Given the description of an element on the screen output the (x, y) to click on. 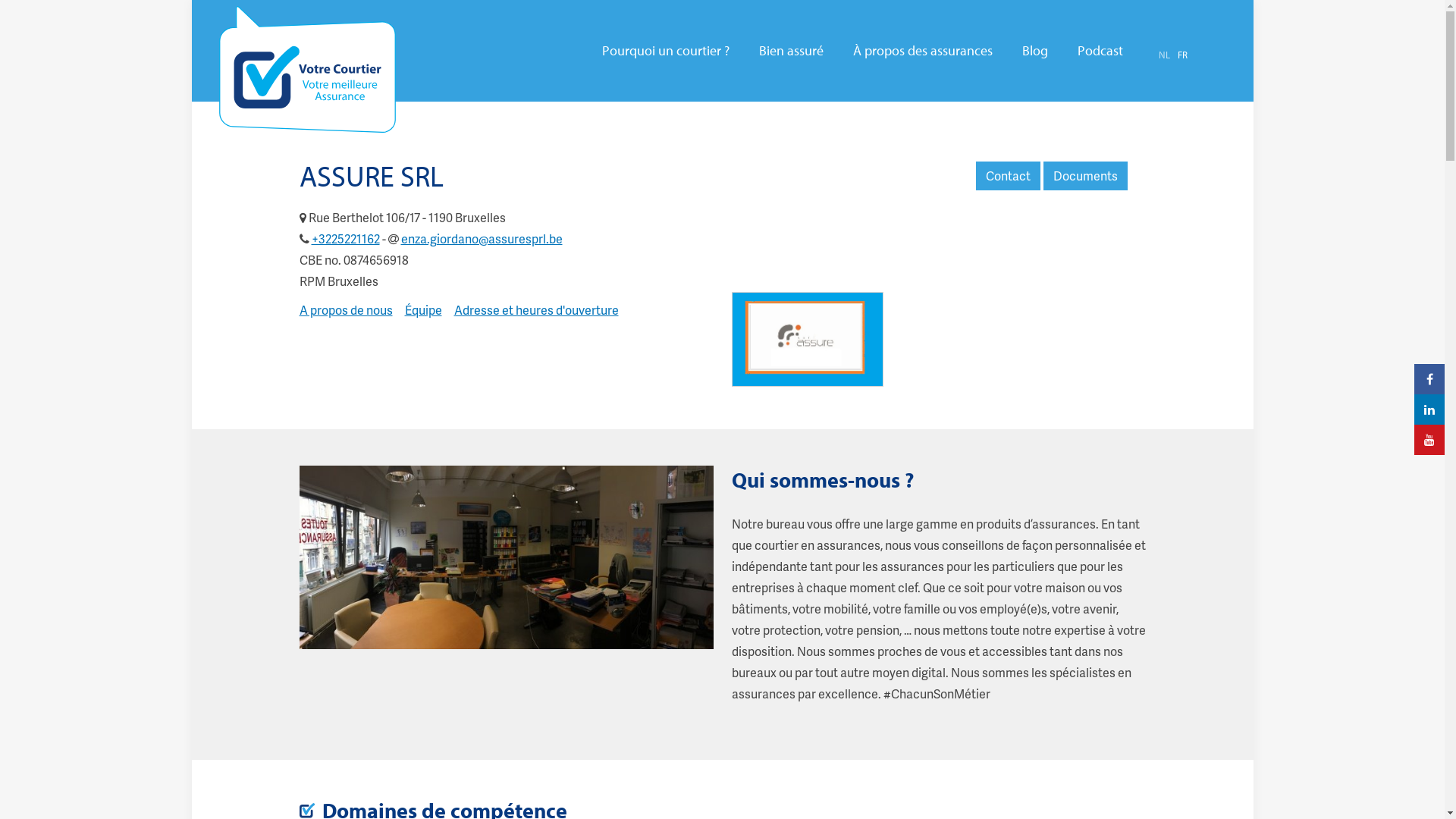
enza.giordano@assuresprl.be Element type: text (480, 238)
FR Element type: text (1181, 54)
NL Element type: text (1164, 54)
A propos de nous Element type: text (345, 309)
Podcast Element type: text (1099, 50)
Adresse et heures d'ouverture Element type: text (535, 309)
Pourquoi un courtier ? Element type: text (665, 50)
Blog Element type: text (1034, 50)
Contact Element type: text (1007, 175)
+3225221162 Element type: text (344, 238)
Documents Element type: text (1085, 175)
